Given the description of an element on the screen output the (x, y) to click on. 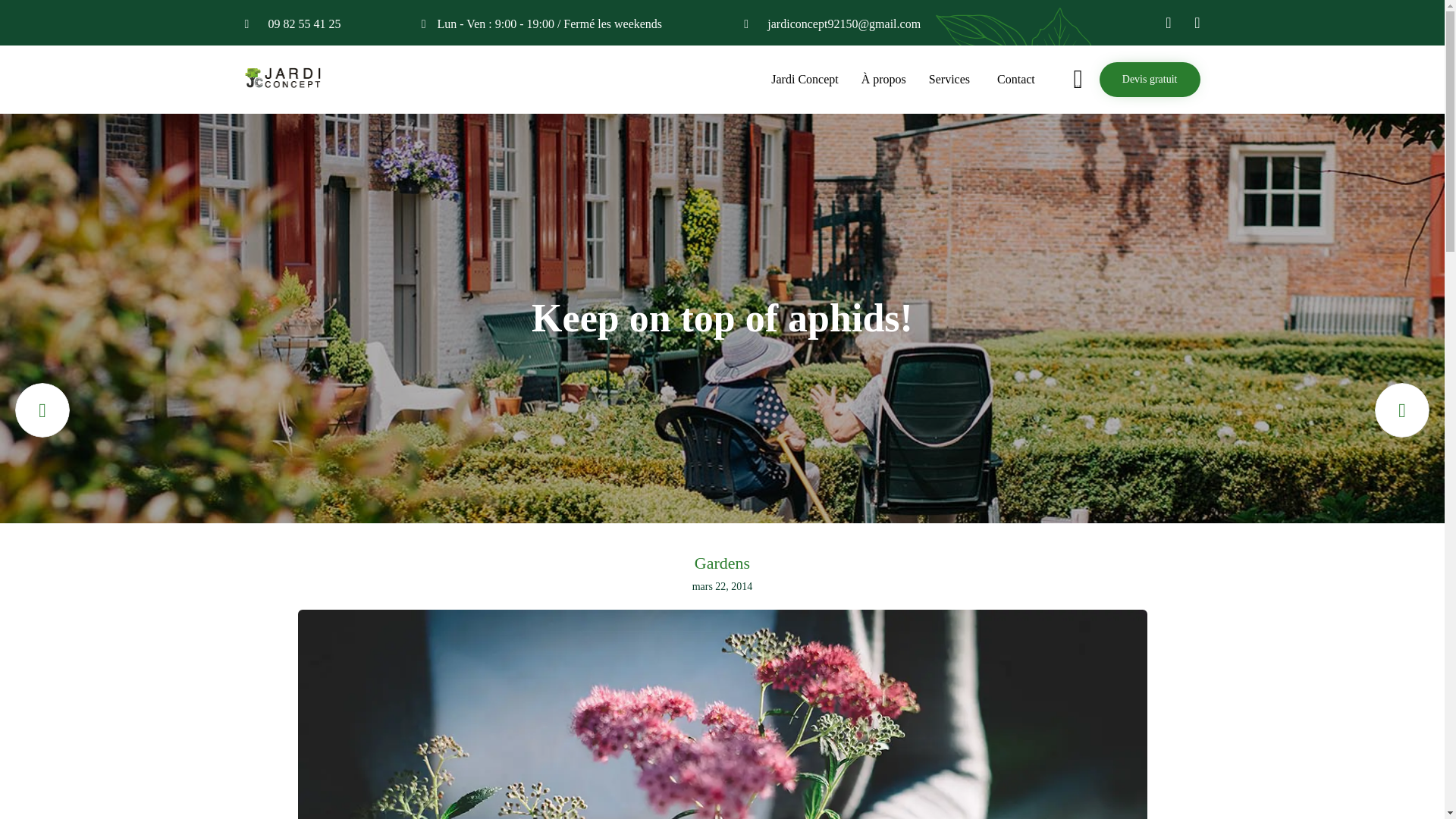
Devis gratuit (1149, 79)
09 82 55 41 25 (303, 24)
Services (951, 79)
Jardi Concept (804, 79)
Gardens (721, 563)
Contact (1015, 79)
Jardiconcept (285, 77)
